Given the description of an element on the screen output the (x, y) to click on. 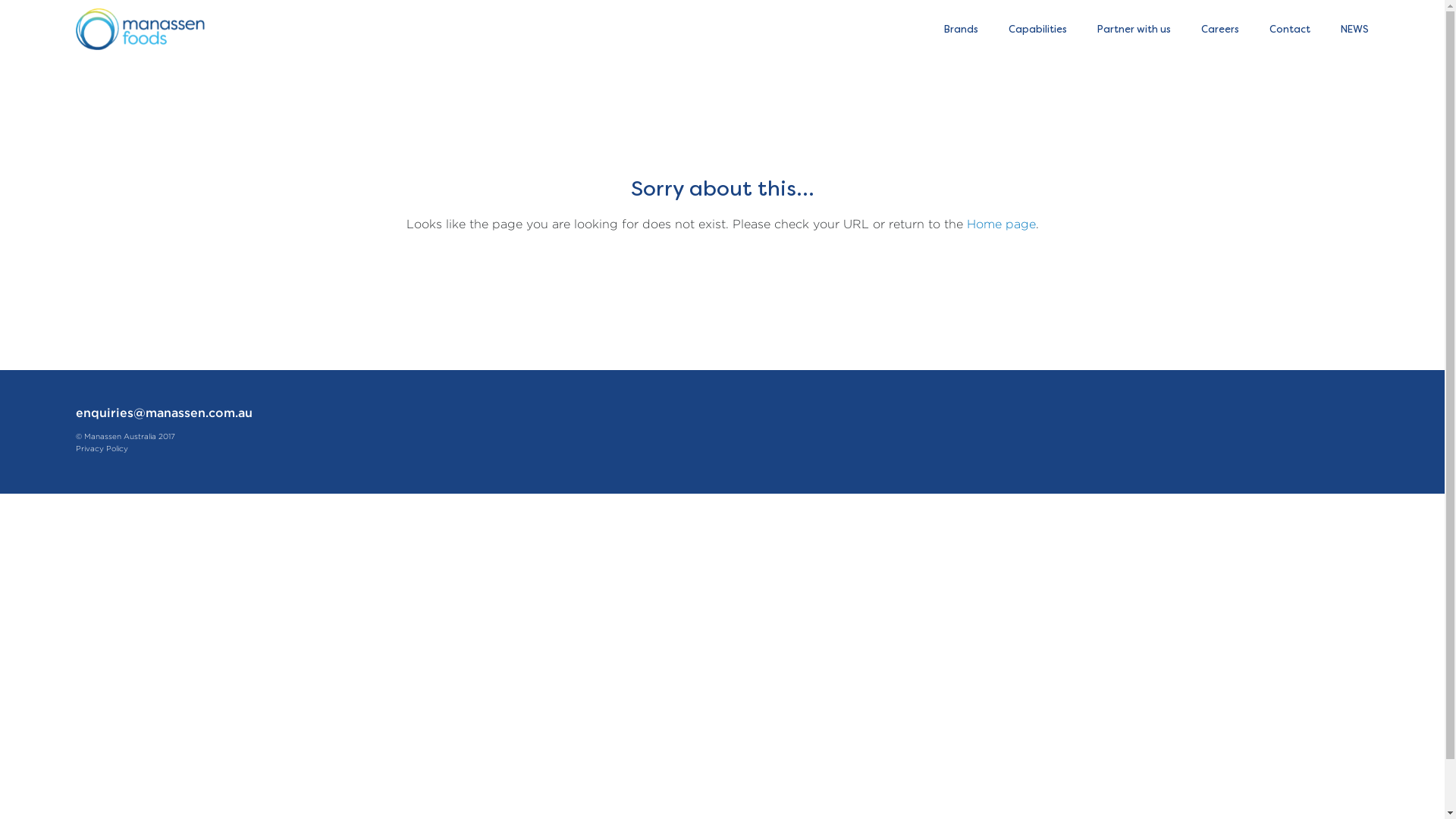
NEWS Element type: text (1354, 31)
Partner with us Element type: text (1133, 31)
Careers Element type: text (1220, 31)
Capabilities Element type: text (1037, 31)
enquiries@manassen.com.au Element type: text (163, 413)
manassen foods Element type: hover (139, 25)
Home page Element type: text (1000, 224)
Contact Element type: text (1289, 31)
Privacy Policy Element type: text (101, 448)
Brands Element type: text (961, 31)
